Given the description of an element on the screen output the (x, y) to click on. 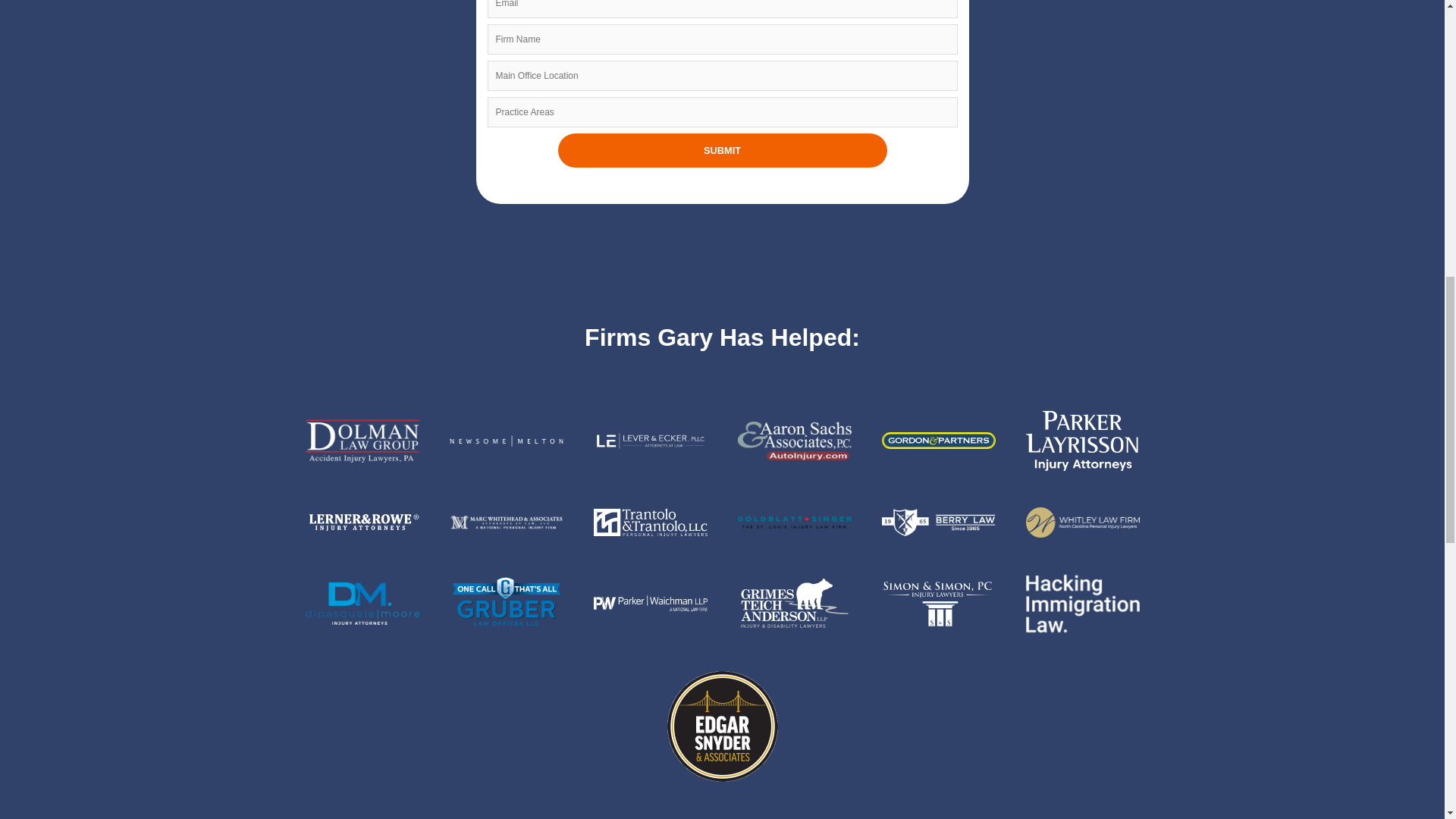
Submit (721, 150)
Submit (721, 150)
